Given the description of an element on the screen output the (x, y) to click on. 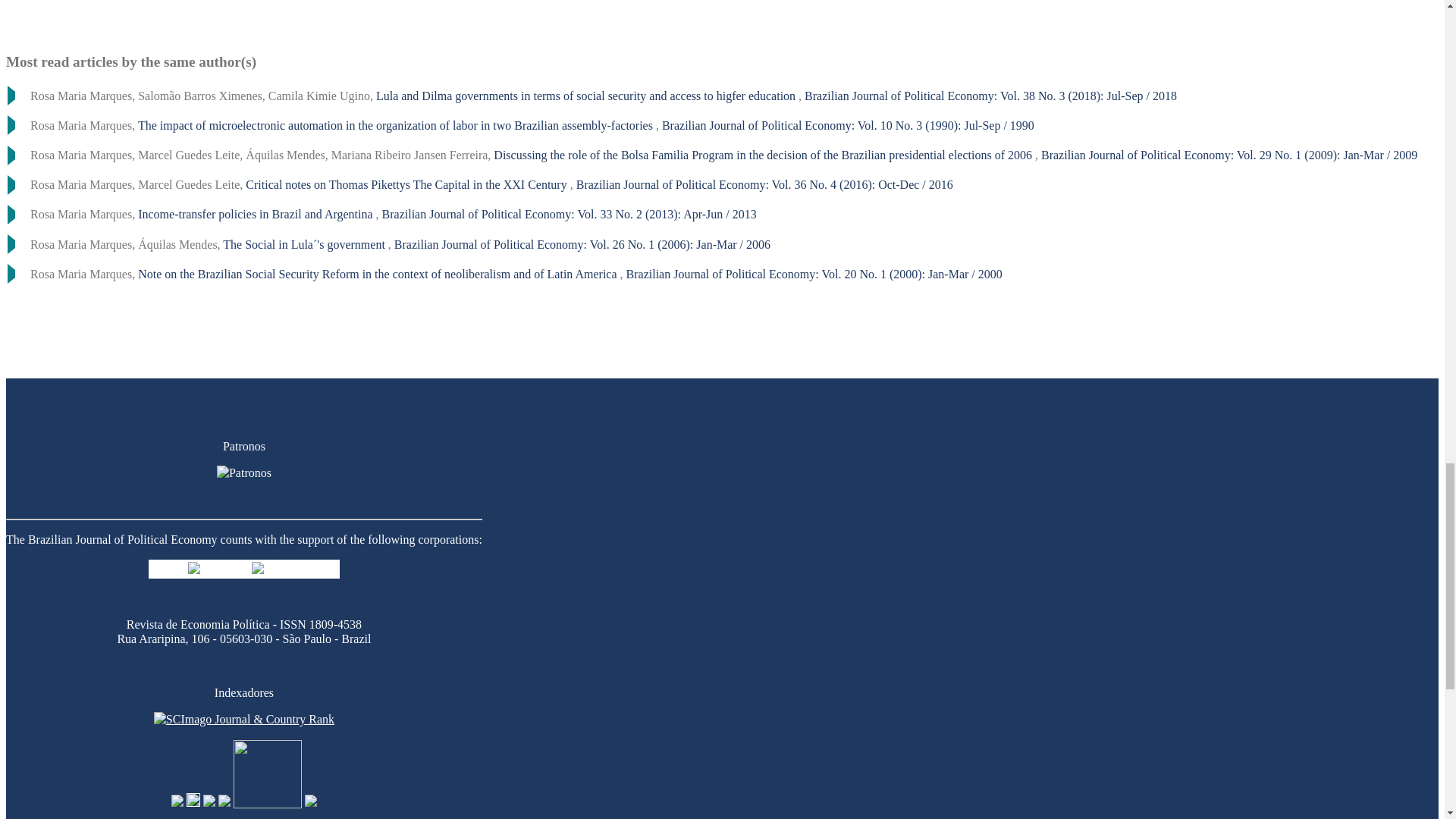
REPEC (177, 803)
ECONLIT (209, 803)
SCIELO (266, 803)
GOOGLE SCHOLAR (193, 803)
THOMSON REUTERS (310, 803)
RESEARCHGATE (223, 803)
